Given the description of an element on the screen output the (x, y) to click on. 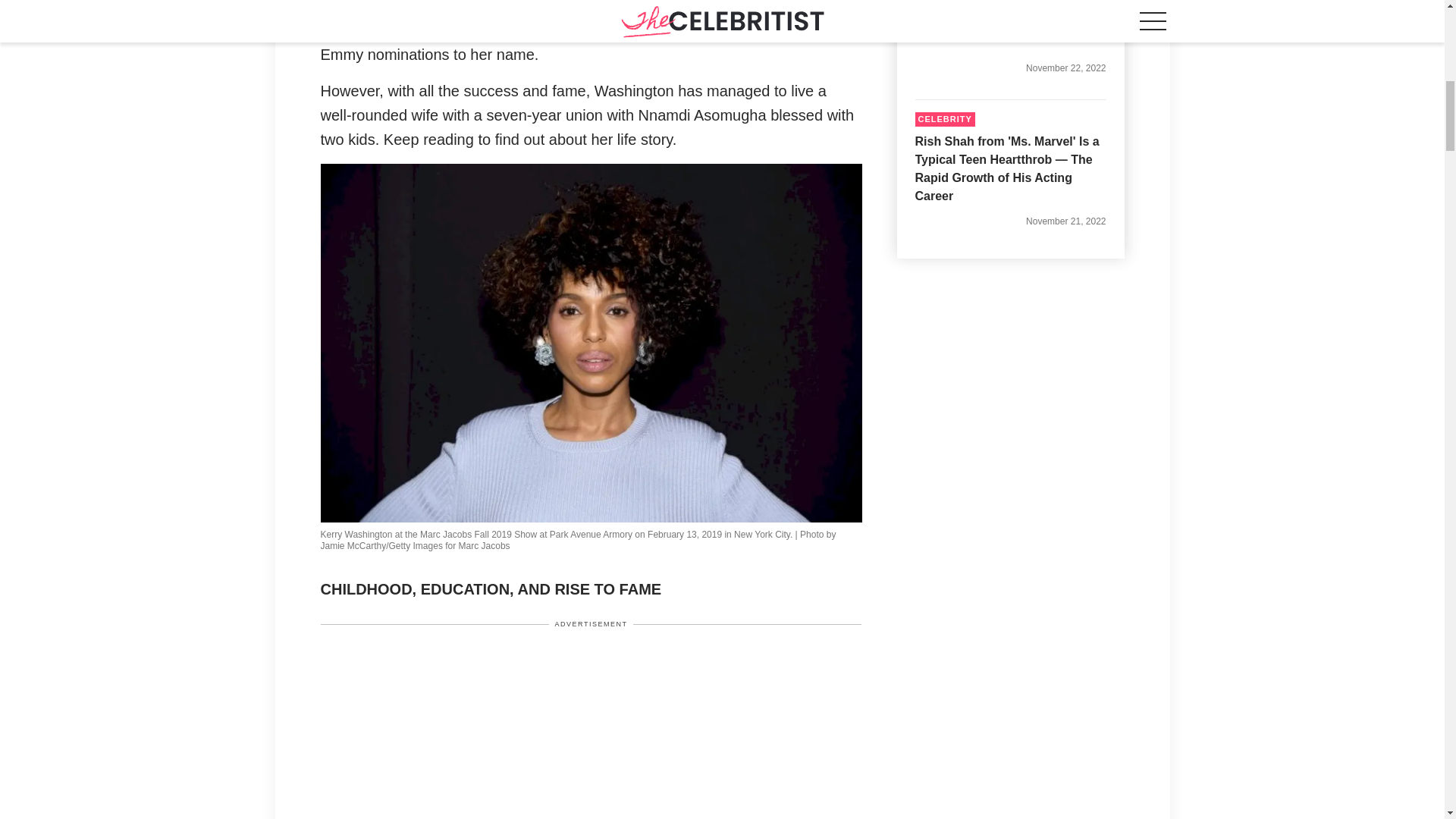
CELEBRITY (944, 119)
